Given the description of an element on the screen output the (x, y) to click on. 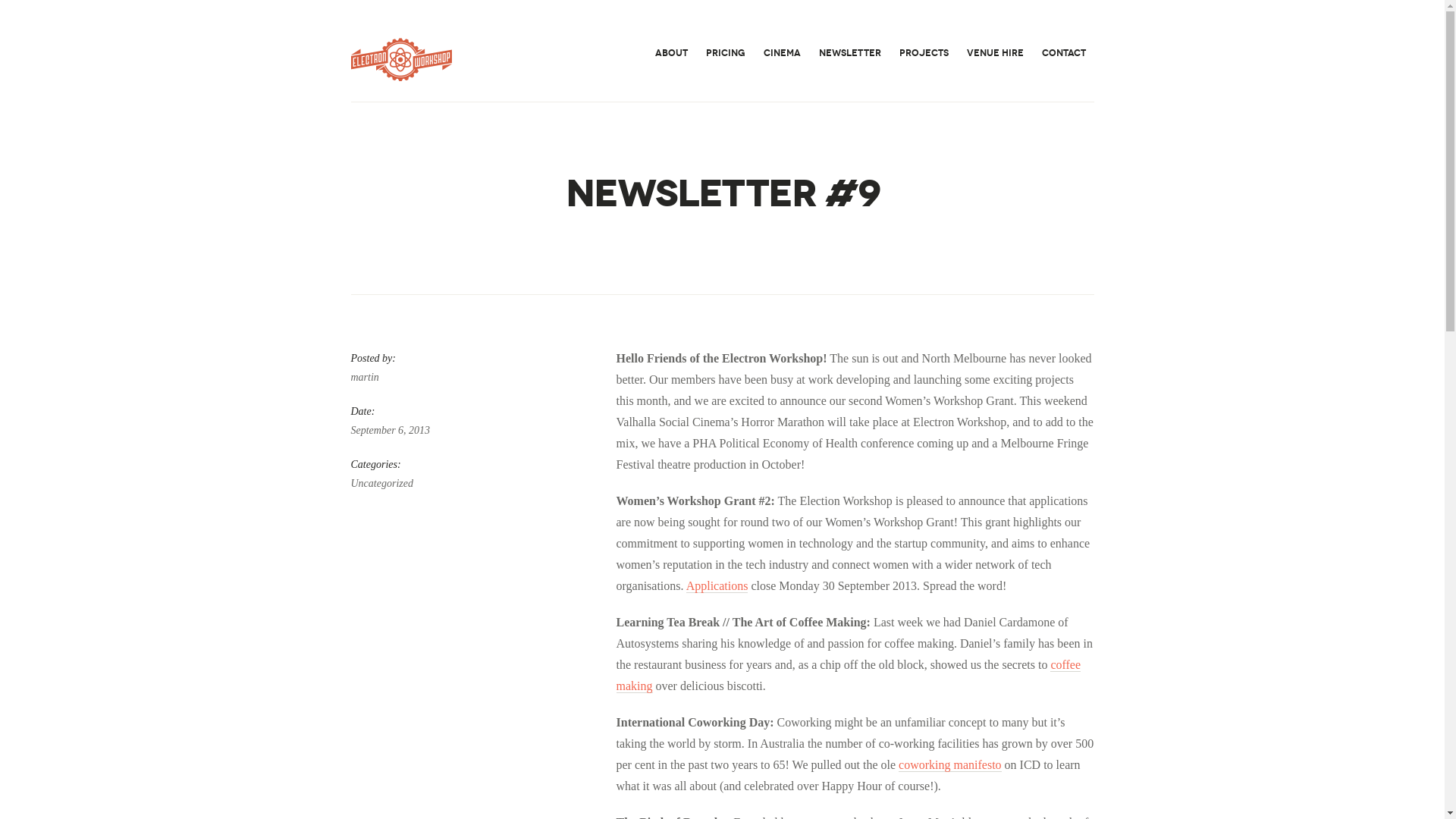
CINEMA Element type: text (782, 53)
PROJECTS Element type: text (923, 53)
NEWSLETTER Element type: text (848, 53)
coworking manifesto Element type: text (949, 764)
VENUE HIRE Element type: text (995, 53)
martin Element type: text (469, 378)
ABOUT Element type: text (670, 53)
CONTACT Element type: text (1062, 53)
Uncategorized Element type: text (469, 484)
coffee making Element type: text (847, 675)
Applications Element type: text (717, 586)
September 6, 2013 Element type: text (469, 431)
PRICING Element type: text (725, 53)
